Given the description of an element on the screen output the (x, y) to click on. 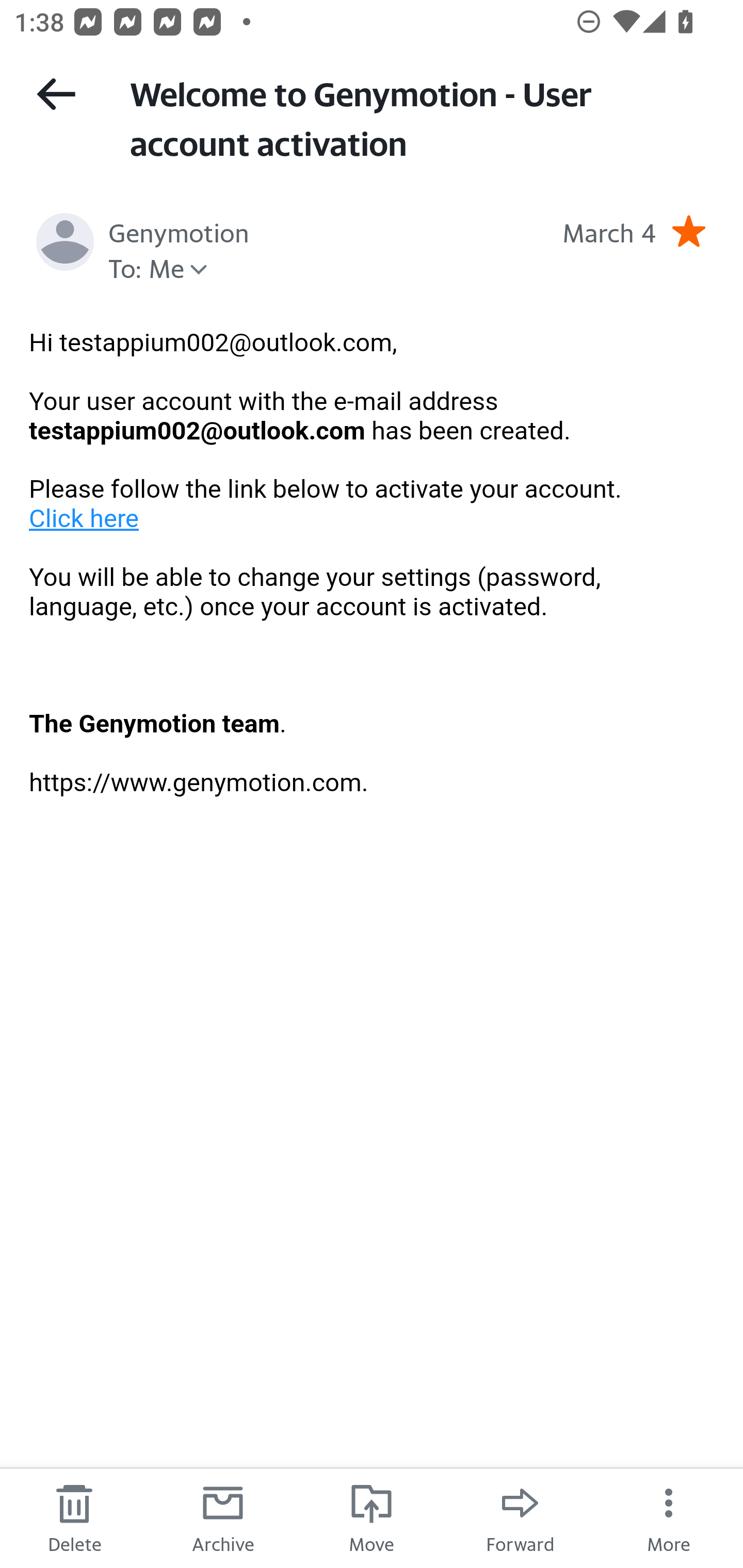
Back (55, 93)
Welcome to Genymotion - User account activation (418, 116)
Profile (64, 242)
Genymotion Sender Genymotion (178, 231)
Remove star. (688, 231)
Click here (84, 517)
Delete (74, 1517)
Archive (222, 1517)
Move (371, 1517)
Forward (519, 1517)
More (668, 1517)
